Given the description of an element on the screen output the (x, y) to click on. 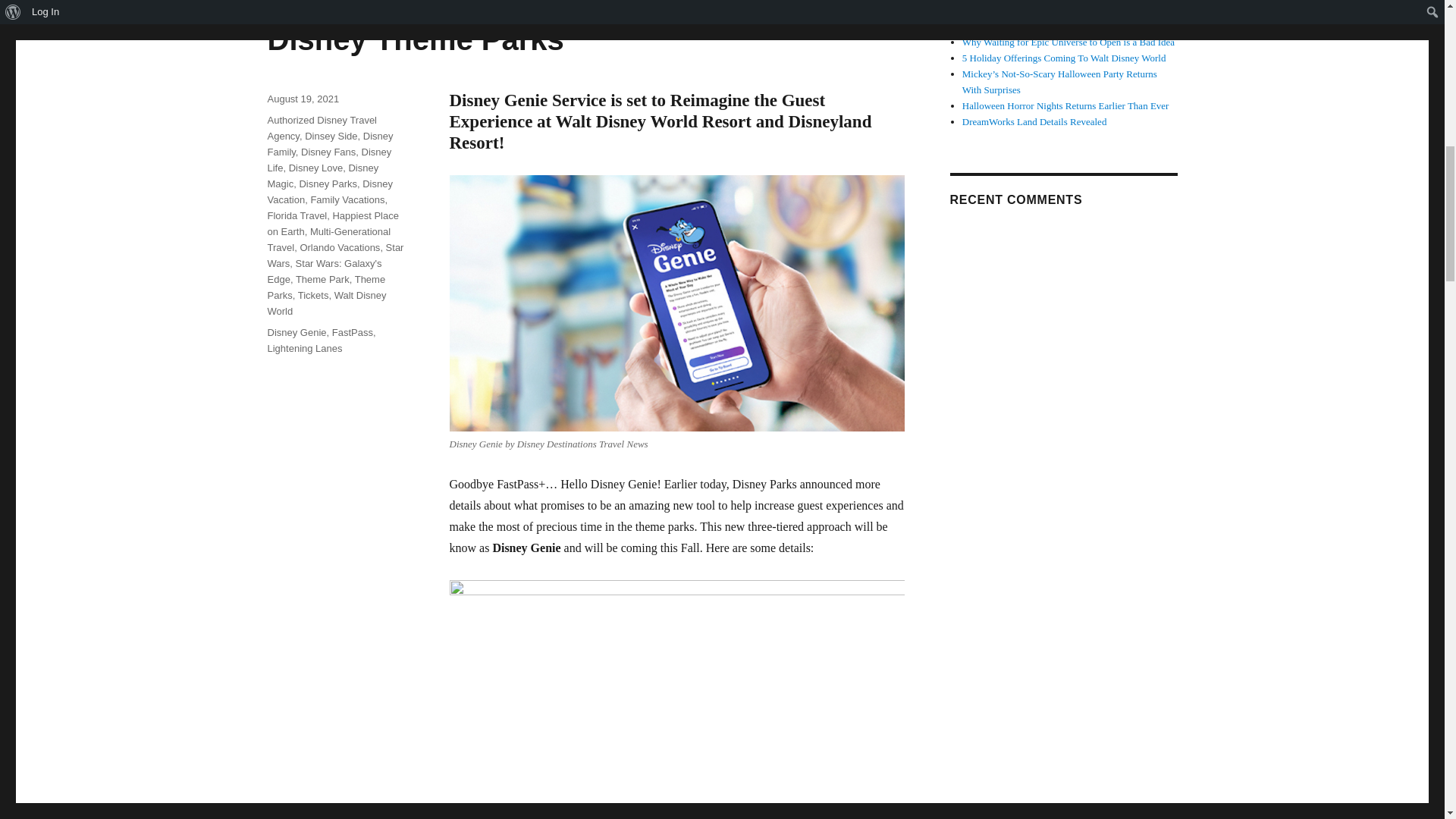
Tickets (313, 295)
Theme Parks (325, 287)
Walt Disney World (325, 302)
Disney Vacation (328, 191)
Disney Life (328, 159)
FastPass (351, 332)
Disney Genie (296, 332)
Dinsey Side (330, 135)
Disney Family (329, 144)
Theme Park (322, 279)
